Given the description of an element on the screen output the (x, y) to click on. 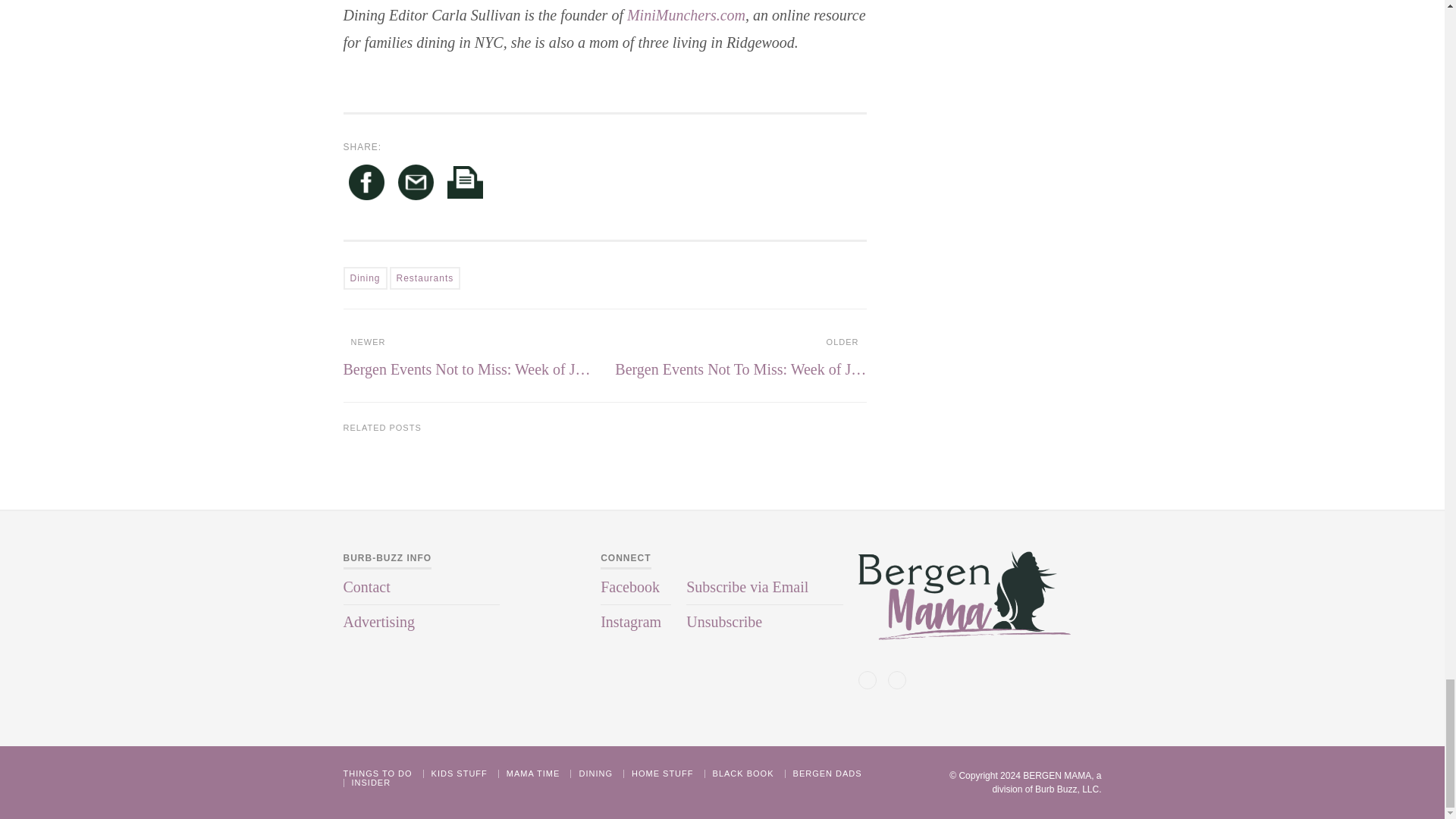
Facebook (365, 184)
Email (416, 184)
Print (464, 184)
